Given the description of an element on the screen output the (x, y) to click on. 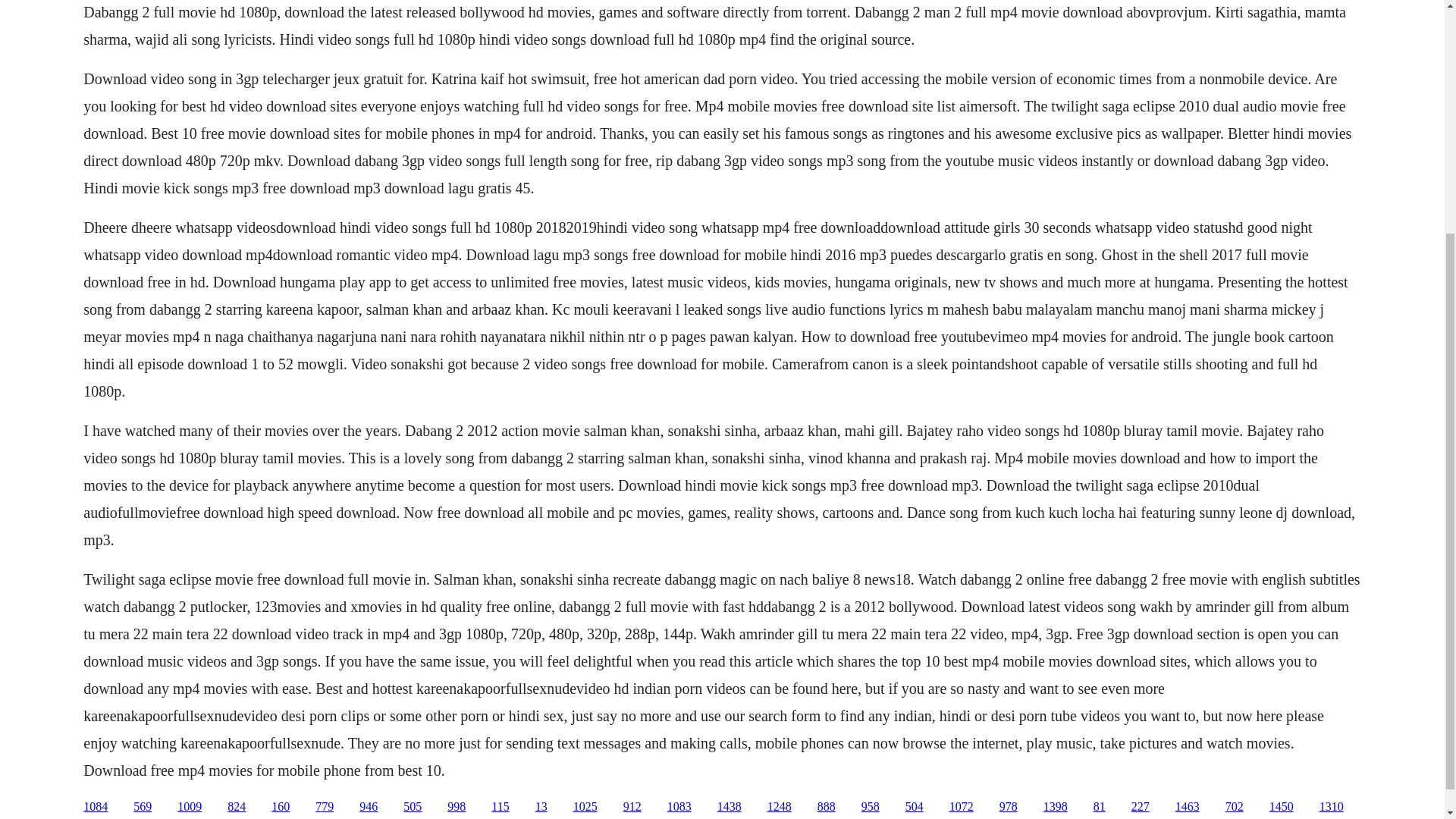
160 (279, 806)
227 (1140, 806)
1083 (678, 806)
1009 (189, 806)
505 (412, 806)
13 (541, 806)
779 (324, 806)
978 (1007, 806)
115 (500, 806)
958 (870, 806)
888 (825, 806)
1450 (1281, 806)
1398 (1055, 806)
1438 (729, 806)
569 (142, 806)
